Given the description of an element on the screen output the (x, y) to click on. 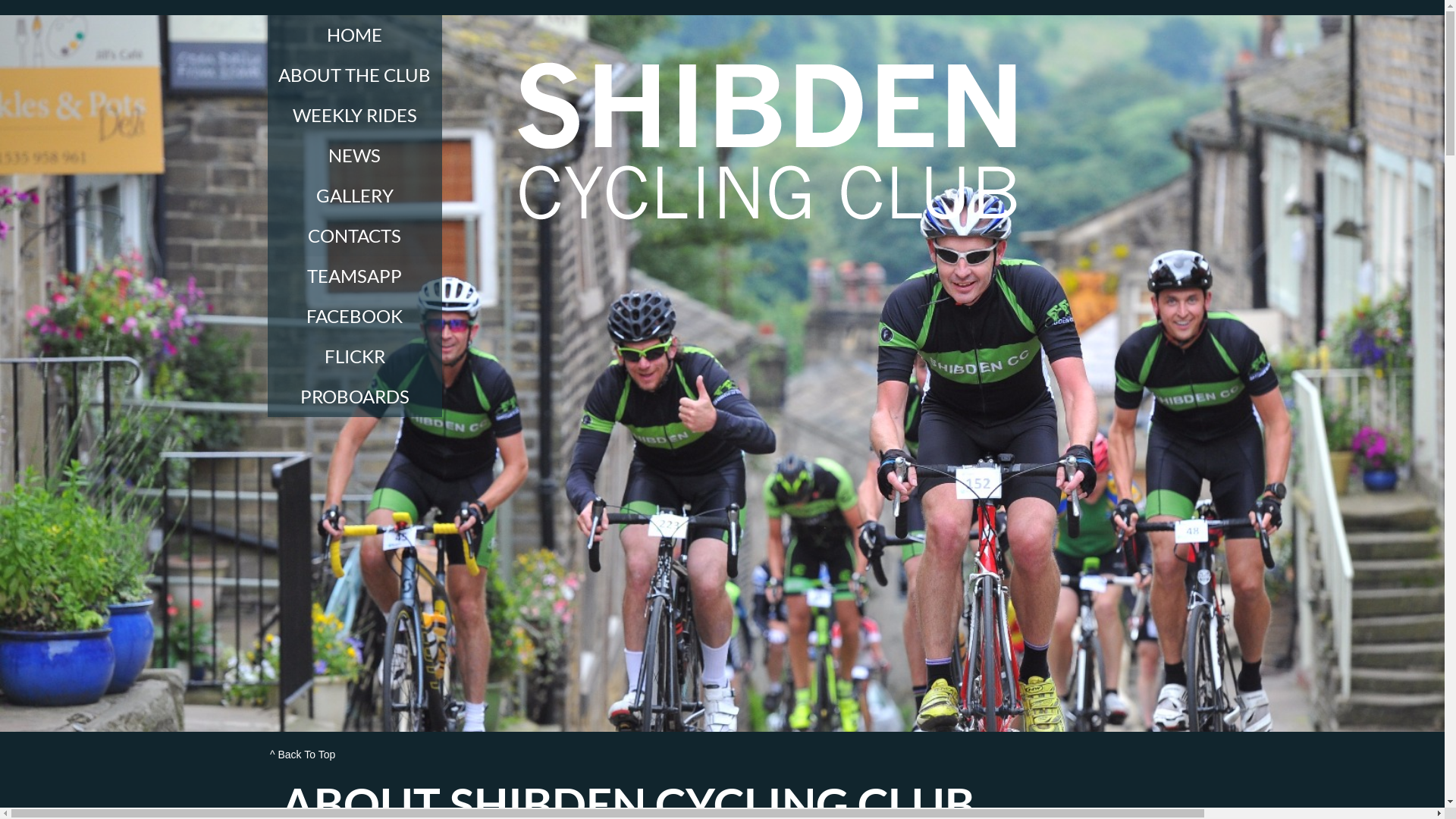
Shibden Cycling Club Element type: hover (767, 142)
FACEBOOK Element type: text (353, 316)
FLICKR Element type: text (353, 356)
PROBOARDS Element type: text (353, 396)
CONTACTS Element type: text (353, 236)
GALLERY Element type: text (353, 195)
HOME Element type: text (353, 35)
NEWS Element type: text (353, 155)
TEAMSAPP Element type: text (353, 276)
WEEKLY RIDES Element type: text (353, 115)
ABOUT THE CLUB Element type: text (353, 75)
^ Back To Top Element type: text (356, 754)
